Given the description of an element on the screen output the (x, y) to click on. 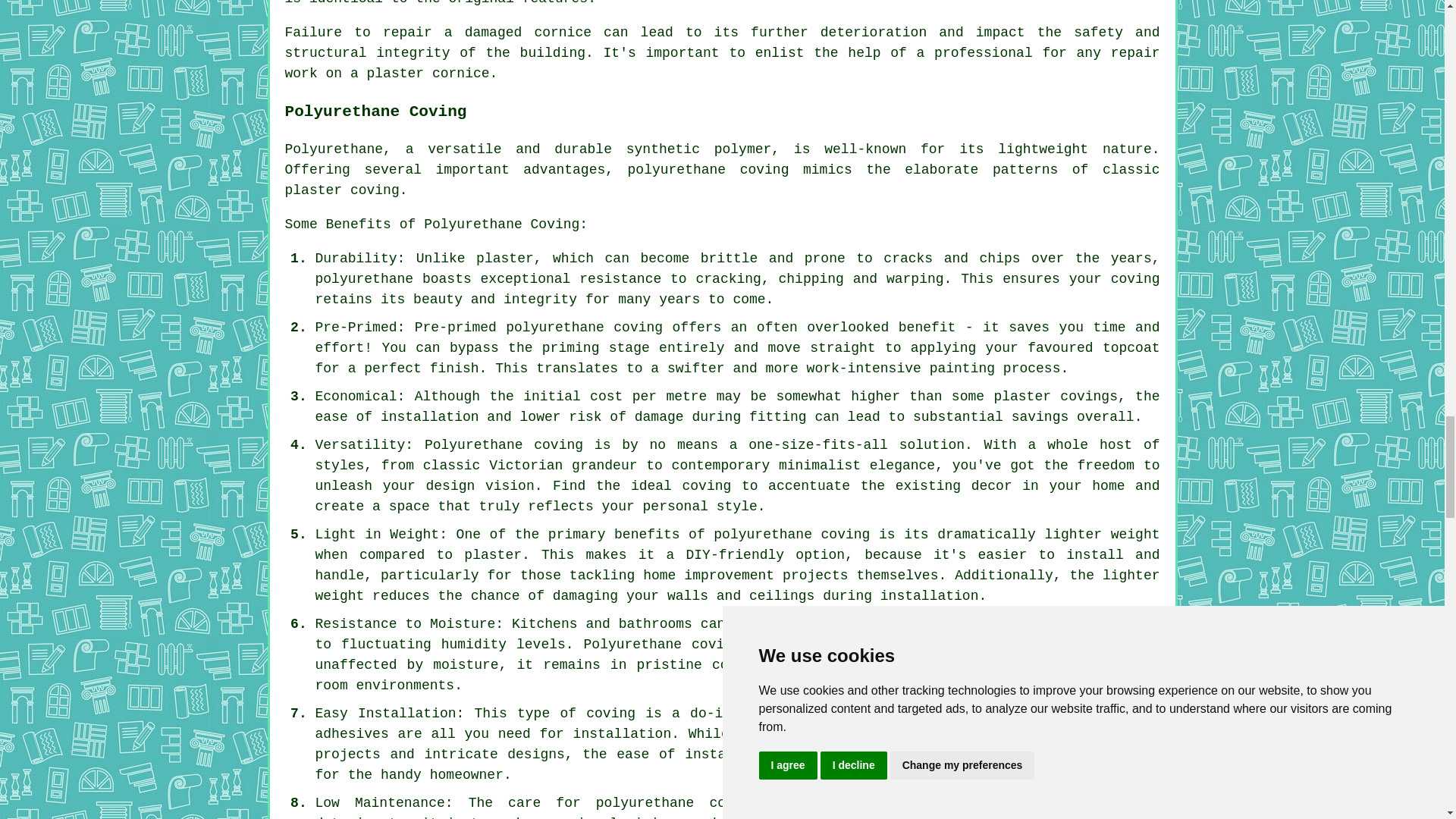
polyurethane coving (708, 169)
